Given the description of an element on the screen output the (x, y) to click on. 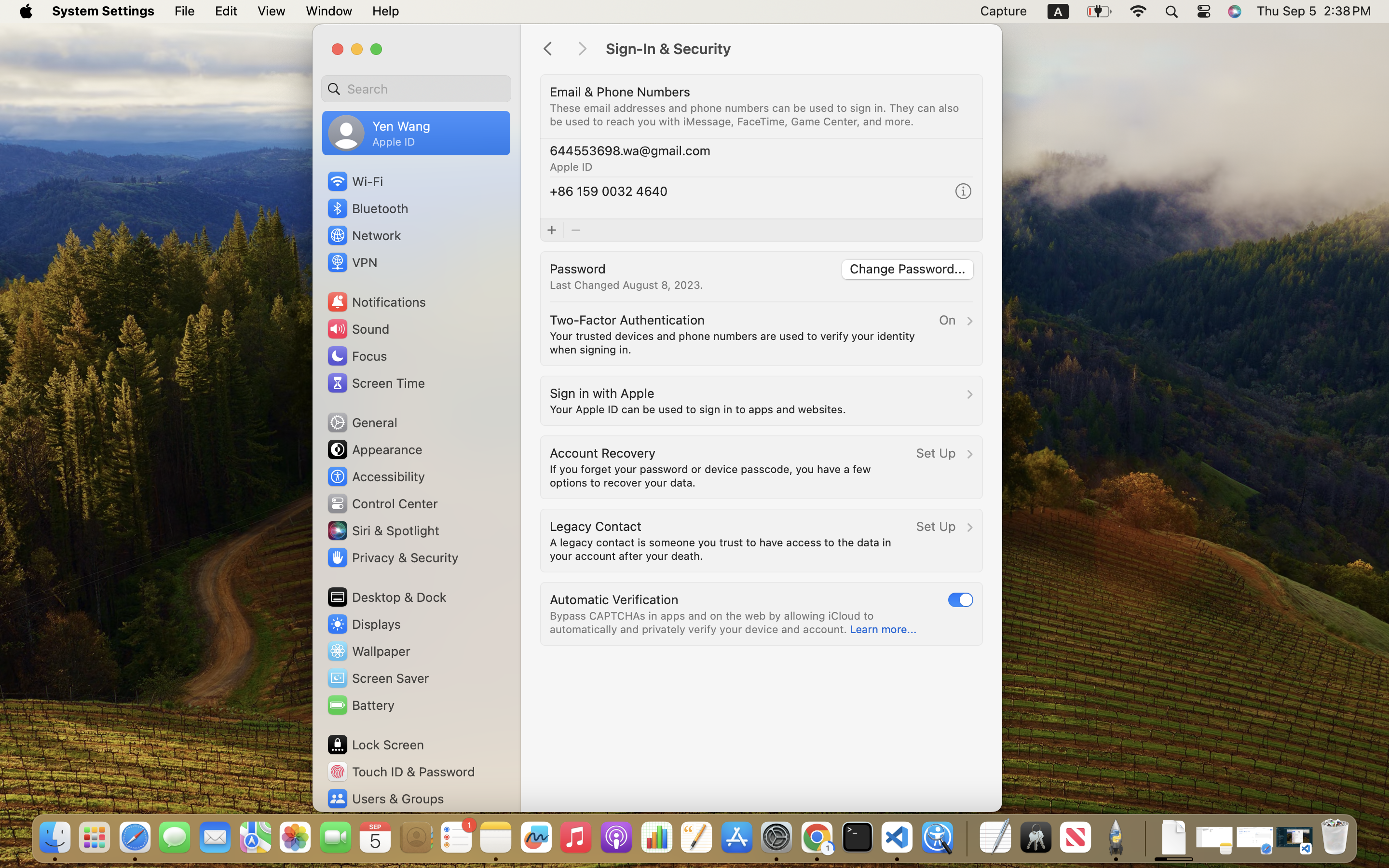
Appearance Element type: AXStaticText (374, 449)
Automatic Verification Element type: AXStaticText (613, 598)
+86 159 0032 4640 Element type: AXStaticText (608, 190)
644553698.wa@gmail.com Element type: AXStaticText (629, 150)
Wallpaper Element type: AXStaticText (367, 650)
